Given the description of an element on the screen output the (x, y) to click on. 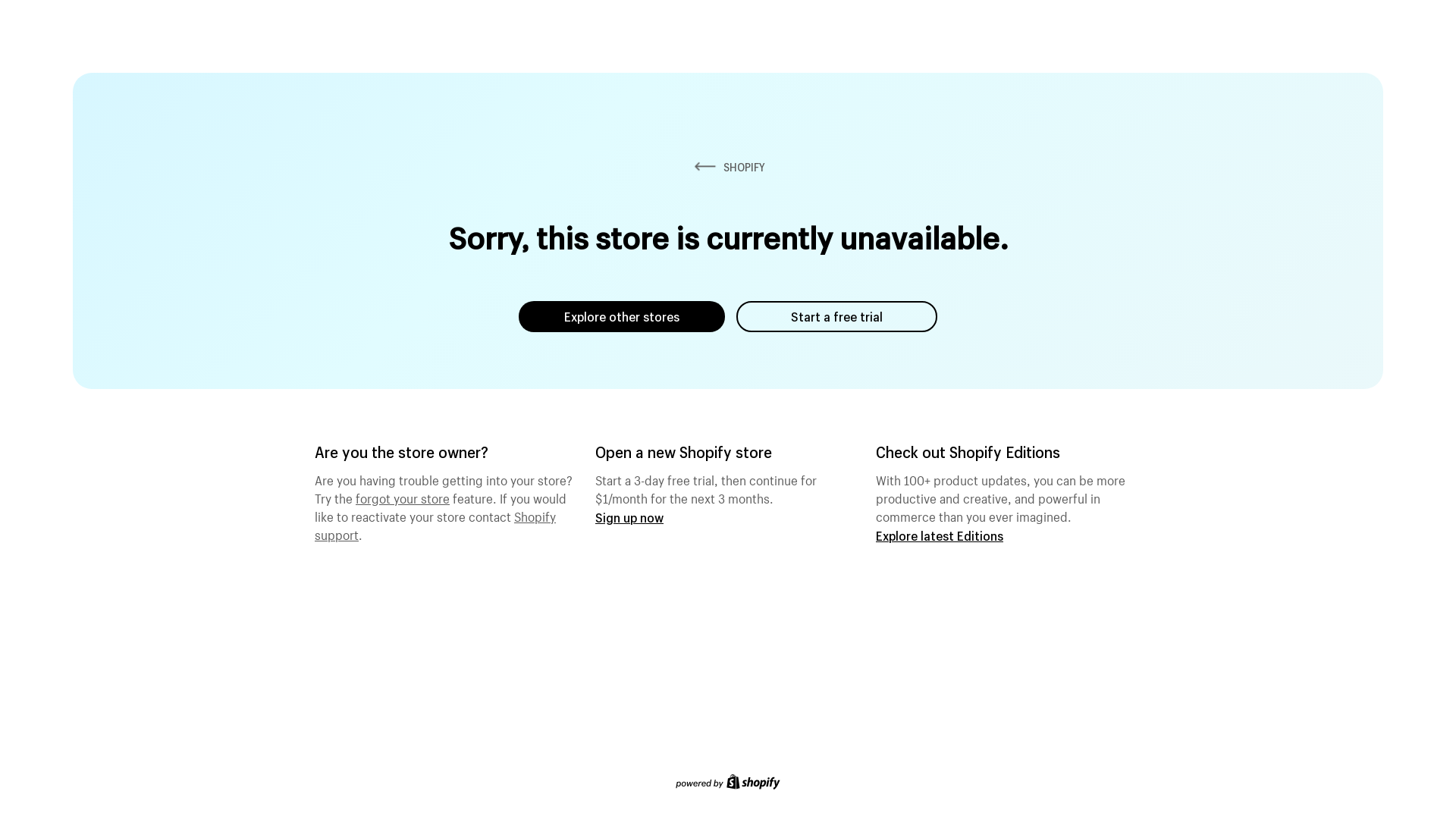
Explore other stores Element type: text (621, 316)
SHOPIFY Element type: text (727, 167)
Shopify support Element type: text (434, 523)
forgot your store Element type: text (402, 496)
Start a free trial Element type: text (836, 316)
Explore latest Editions Element type: text (939, 535)
Sign up now Element type: text (629, 517)
